Given the description of an element on the screen output the (x, y) to click on. 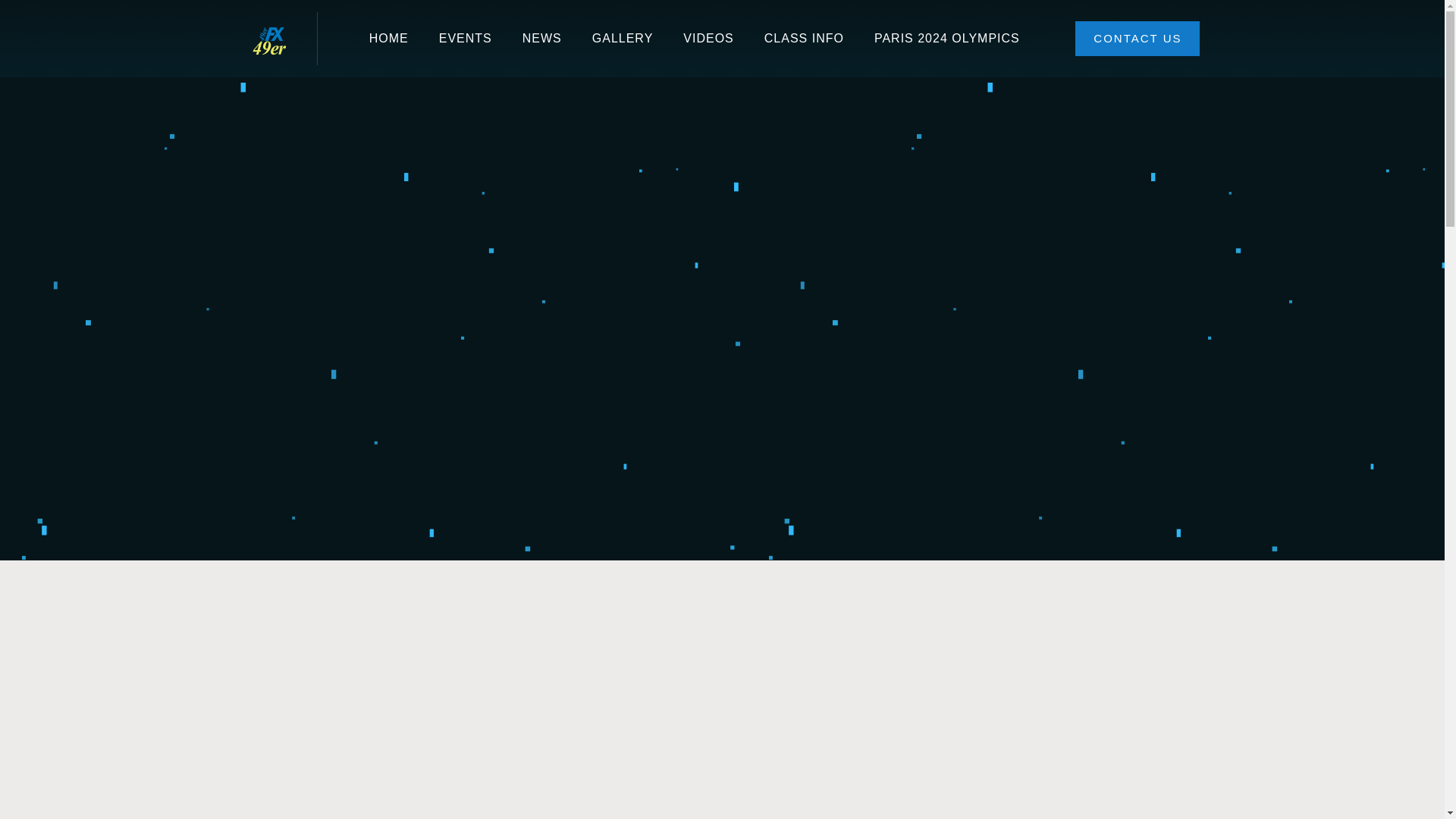
VIDEOS (708, 38)
PARIS 2024 OLYMPICS (947, 38)
GALLERY (622, 38)
CLASS INFO (804, 38)
49er logo (269, 37)
HOME (388, 38)
EVENTS (464, 38)
NEWS (541, 38)
